Given the description of an element on the screen output the (x, y) to click on. 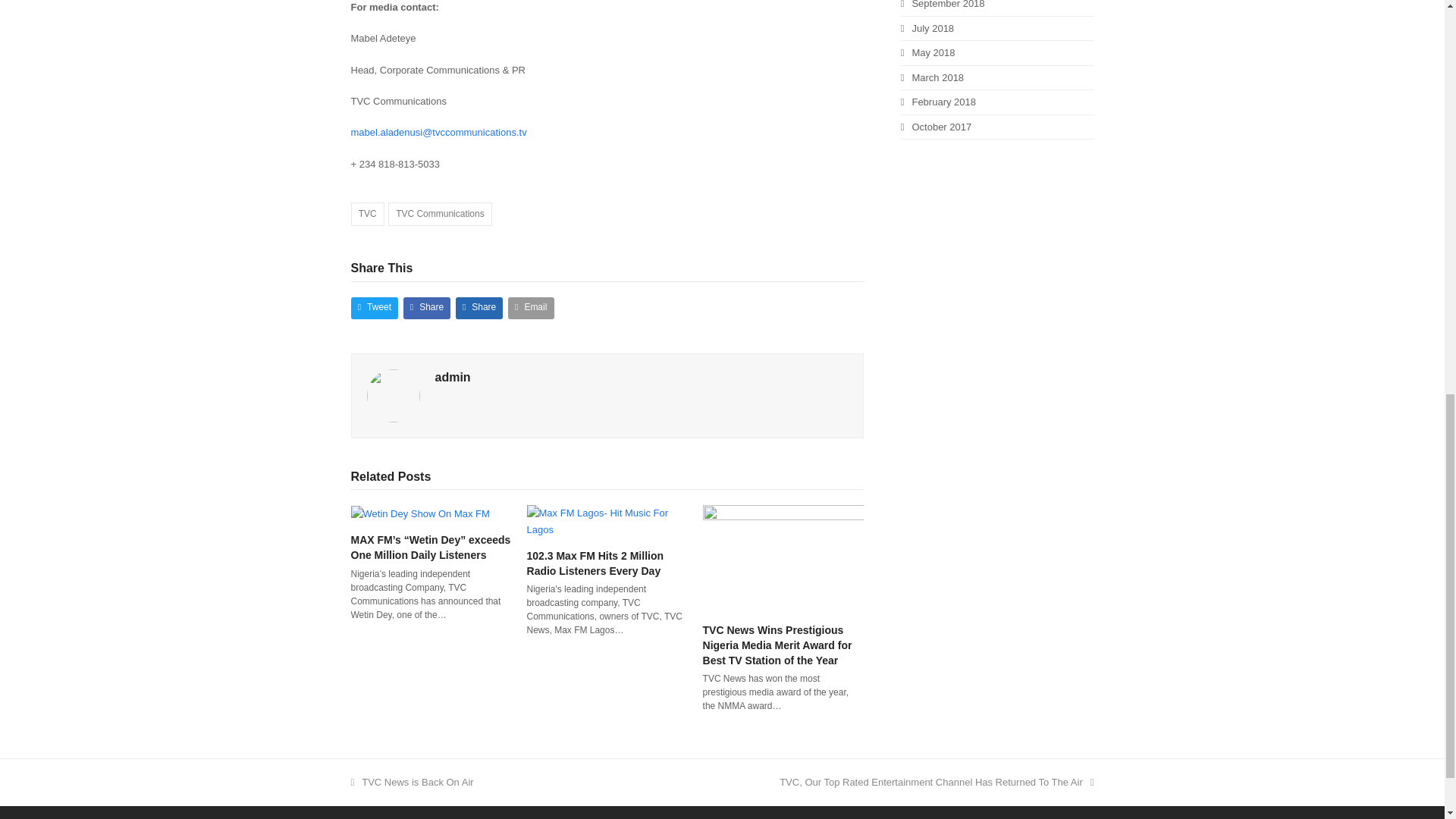
TVC Communications (440, 214)
102.3 Max FM Hits 2 Million Radio Listeners Every Day (595, 563)
Email (531, 308)
TVC (367, 214)
Visit Author Page (452, 377)
Share (479, 308)
Visit Author Page (393, 394)
Share (427, 308)
